Given the description of an element on the screen output the (x, y) to click on. 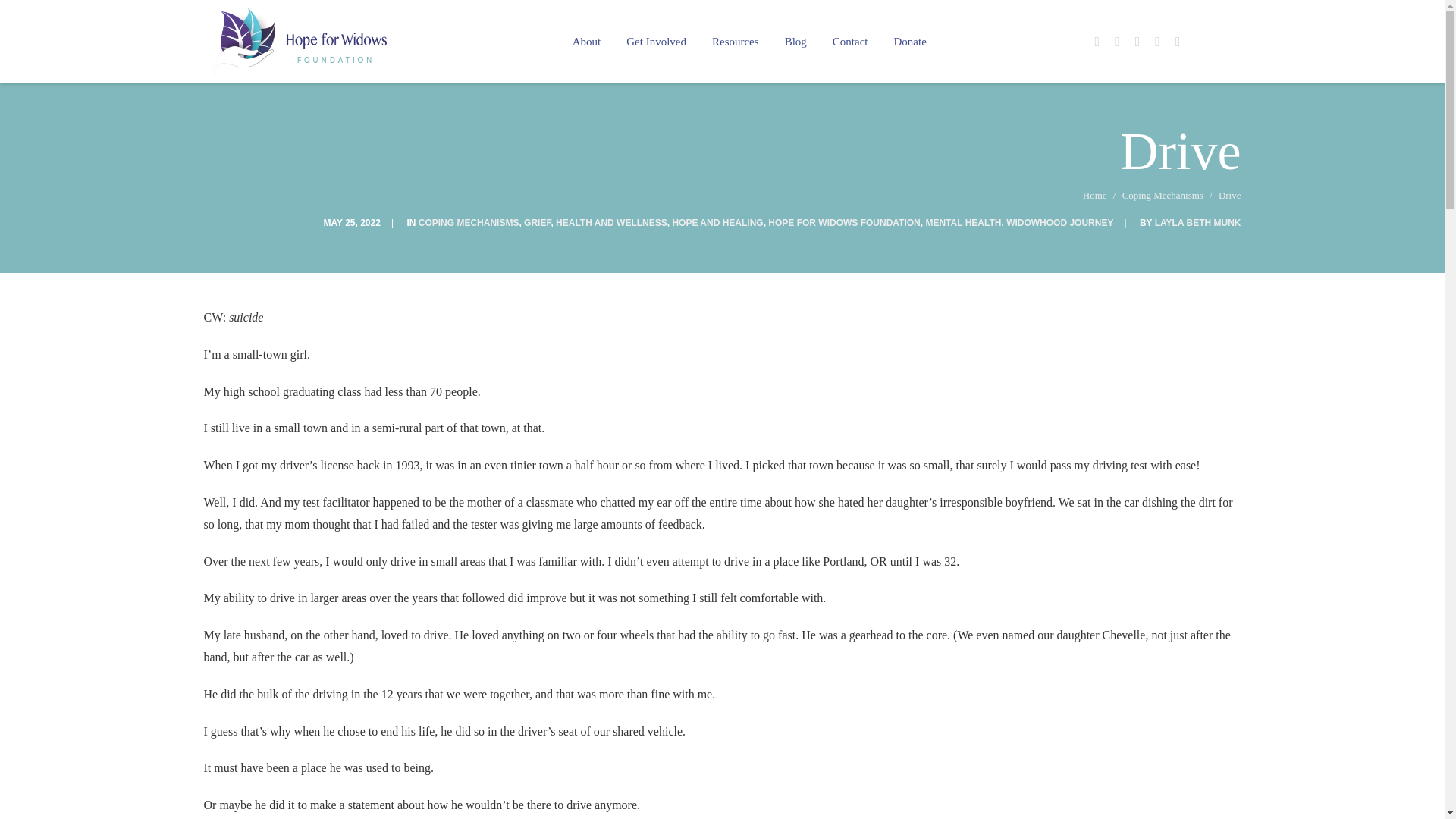
Get Involved (655, 41)
